Given the description of an element on the screen output the (x, y) to click on. 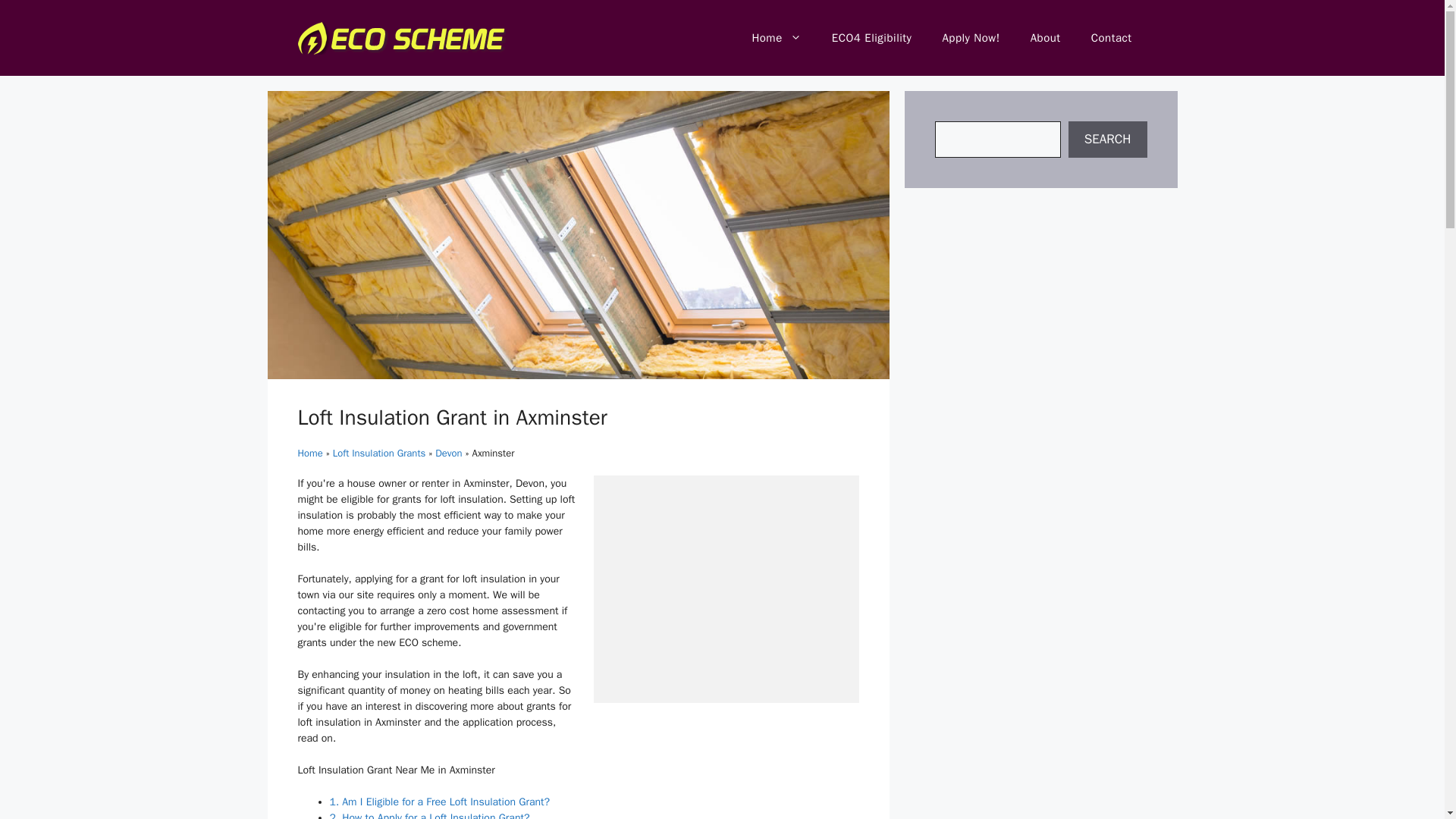
Apply Now! (970, 37)
Home (309, 452)
1. Am I Eligible for a Free Loft Insulation Grant? (439, 801)
Home (775, 37)
Loft Insulation Grants (379, 452)
ECO4 Eligibility (871, 37)
Devon (448, 452)
SEARCH (1107, 139)
Contact (1111, 37)
2. How to Apply for a Loft Insulation Grant? (429, 815)
